Given the description of an element on the screen output the (x, y) to click on. 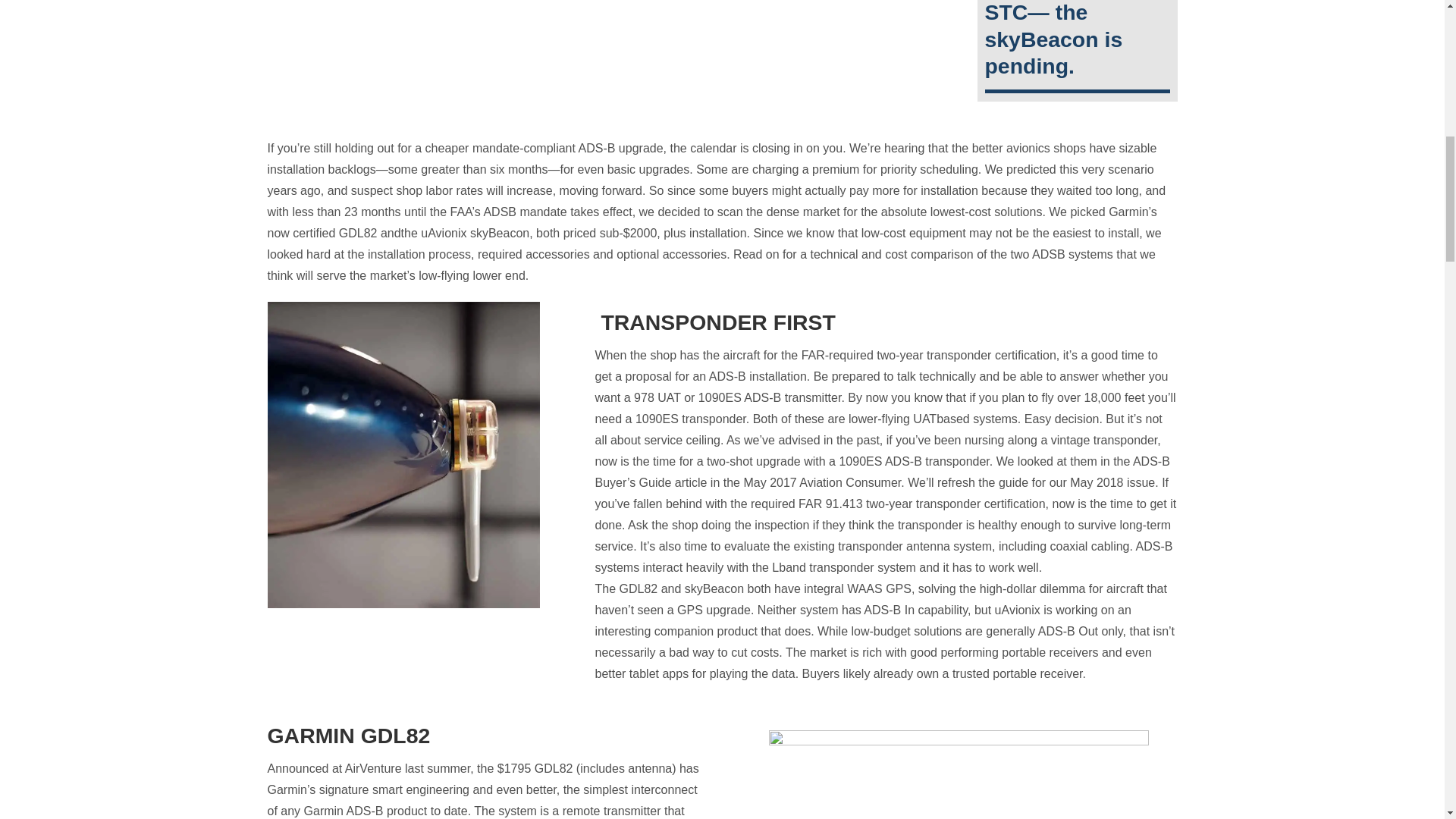
skyBeacon (402, 455)
